Given the description of an element on the screen output the (x, y) to click on. 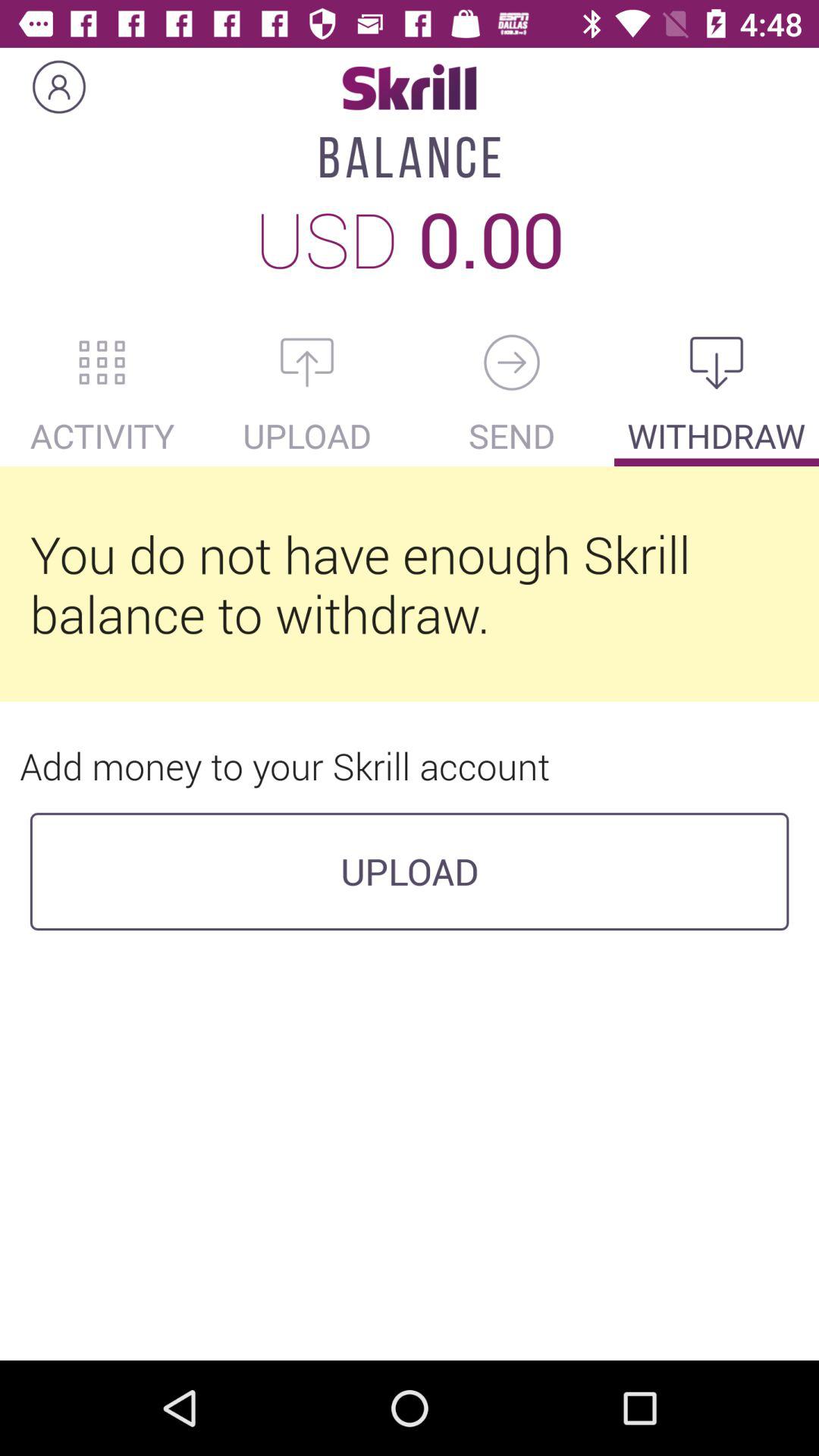
go back (511, 362)
